Given the description of an element on the screen output the (x, y) to click on. 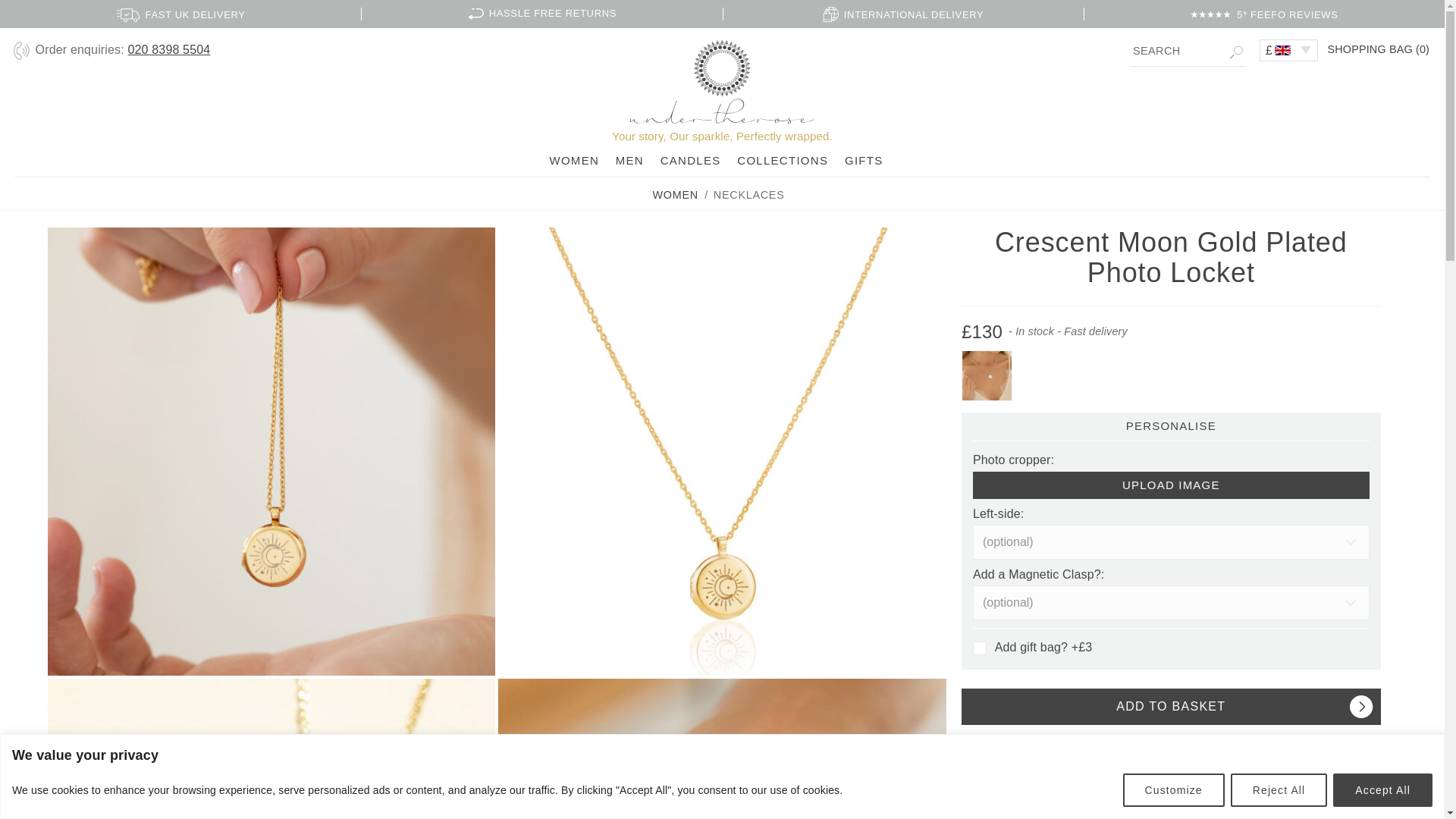
WOMEN (674, 194)
See what our customers say about us (1167, 742)
Reject All (1278, 789)
020 8398 5504 (168, 49)
Customize (1173, 789)
MEN (629, 160)
GIFTS (863, 160)
Search (1187, 51)
WOMEN (573, 160)
COLLECTIONS (782, 160)
Accept All (1382, 789)
Under the Rose - Personalised Jewellery (721, 82)
CANDLES (690, 160)
